Given the description of an element on the screen output the (x, y) to click on. 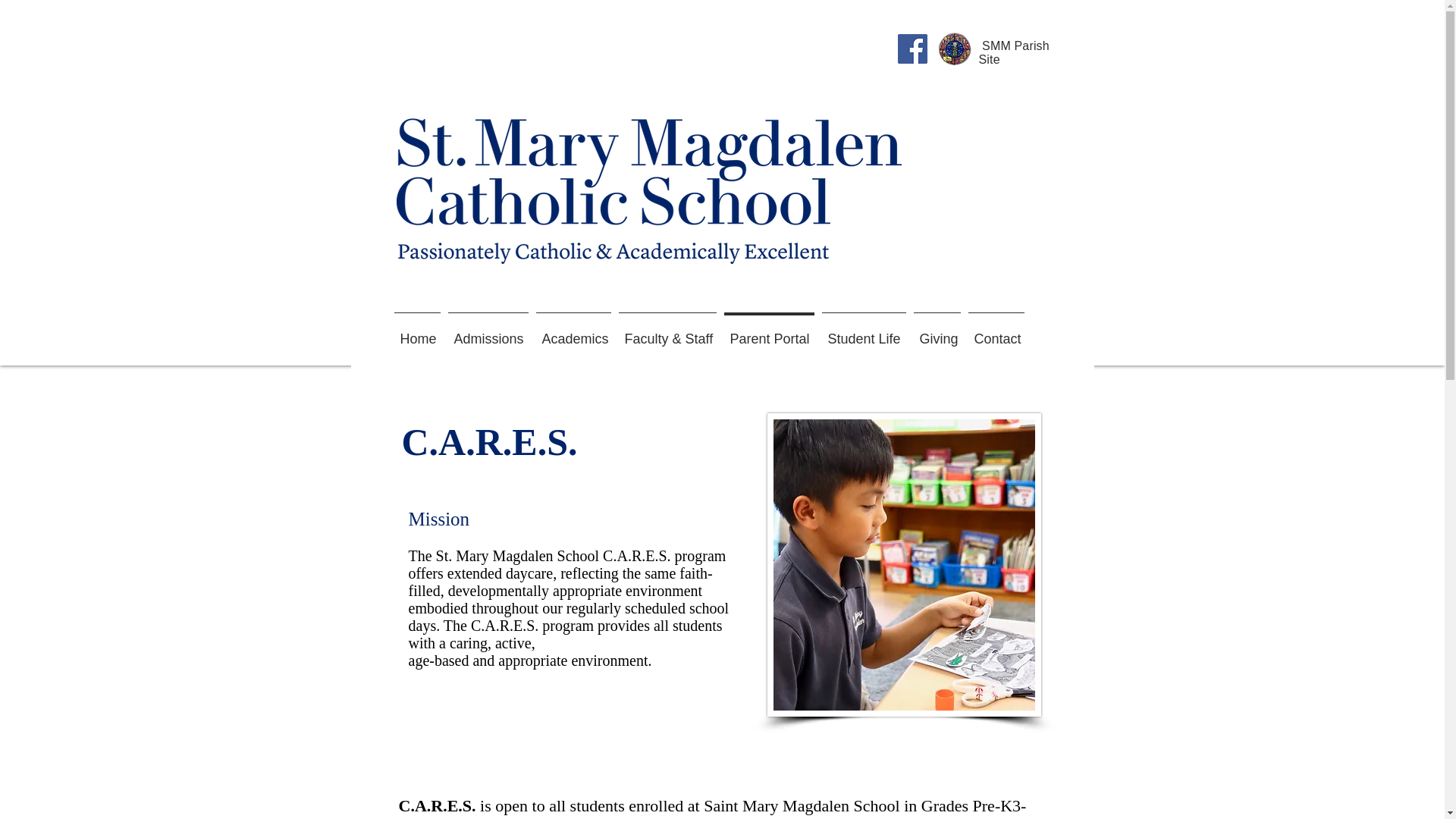
Giving (936, 332)
Parent Portal (769, 332)
Student Life (862, 332)
Colorful-Cross-Circles.png (954, 49)
 SMM Parish Site (1013, 52)
Contact (995, 332)
Academics (573, 332)
Home (417, 332)
Admissions (488, 332)
